Given the description of an element on the screen output the (x, y) to click on. 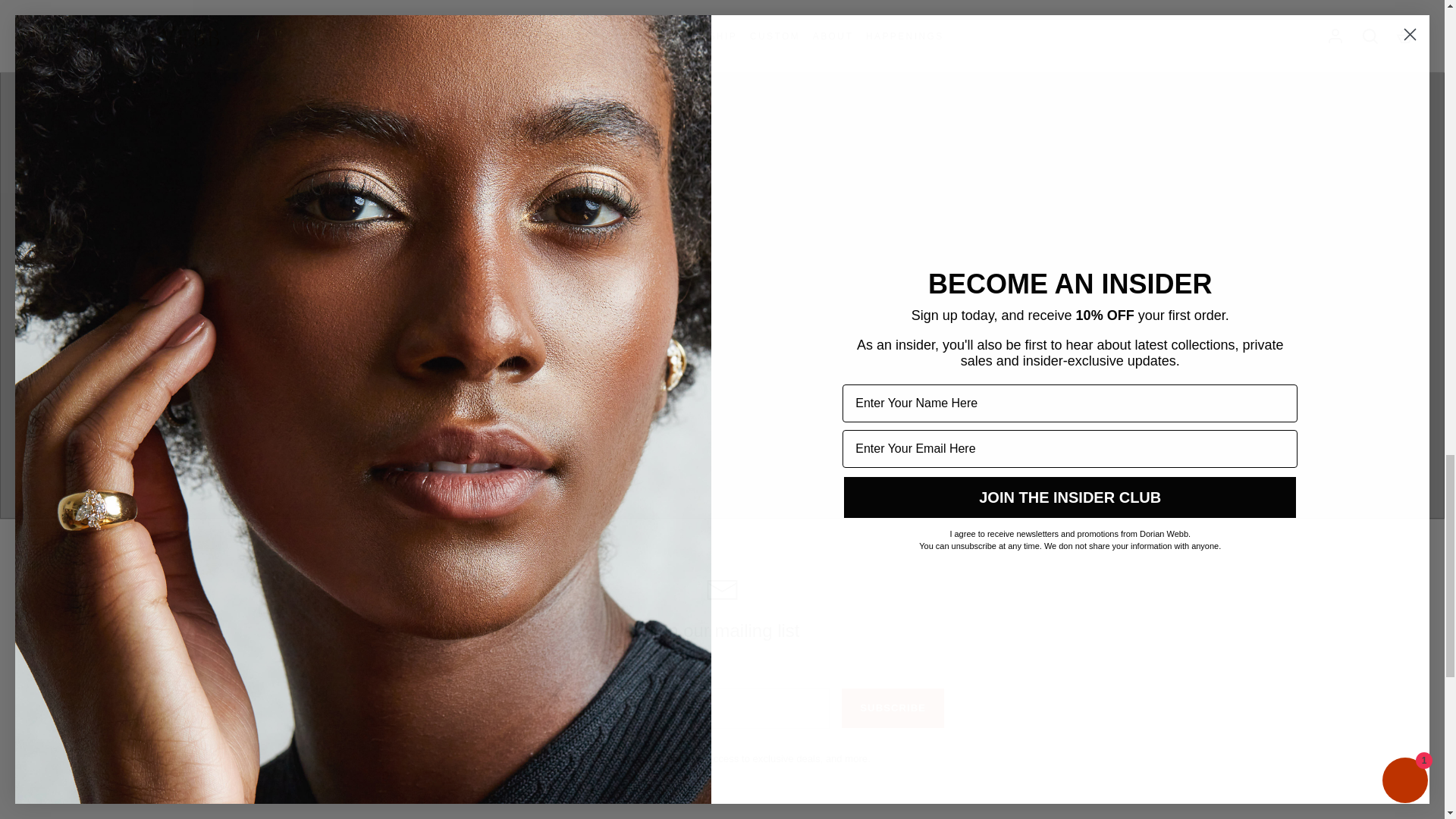
Email (722, 589)
